Given the description of an element on the screen output the (x, y) to click on. 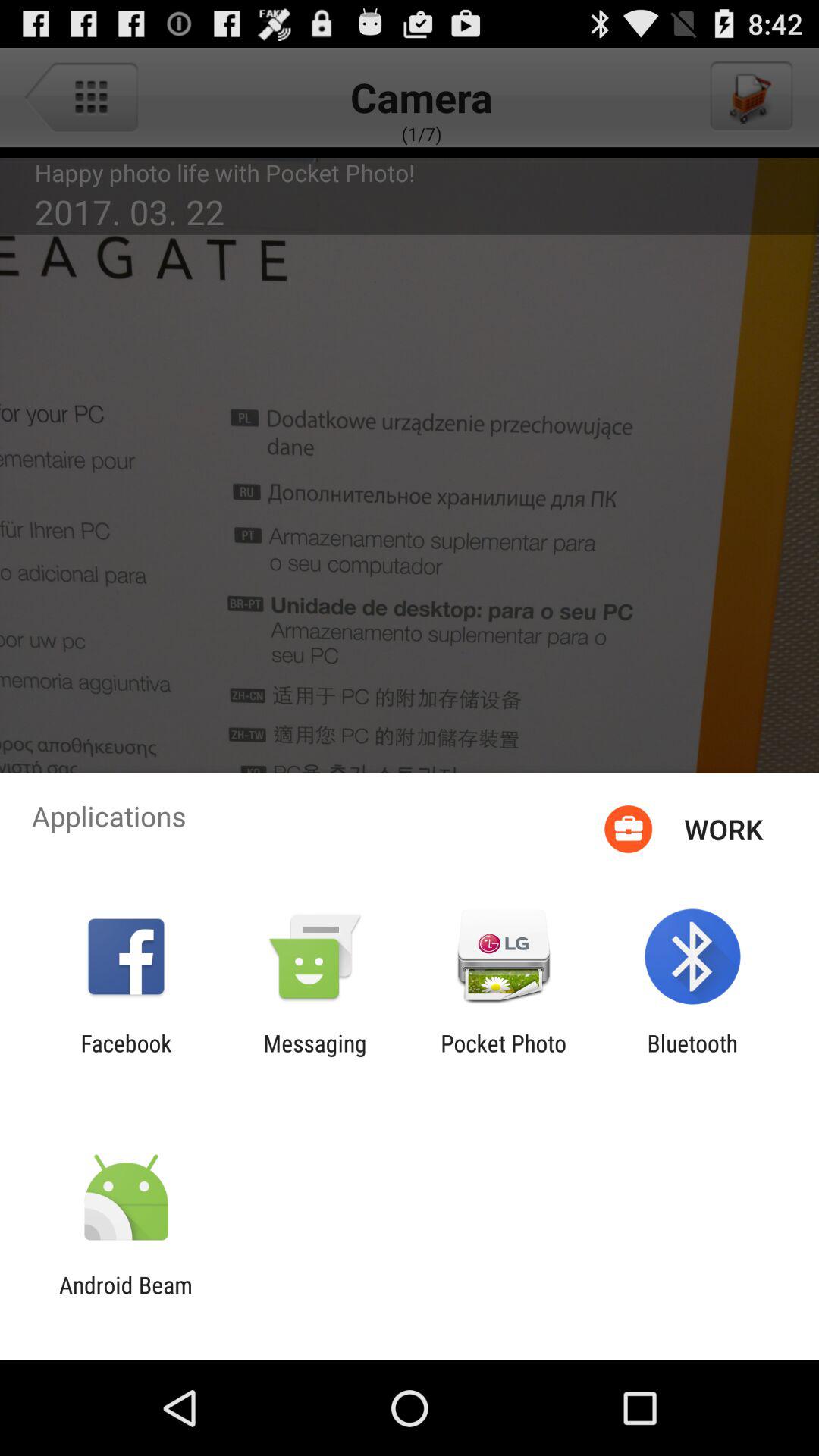
launch icon at the bottom right corner (692, 1056)
